Given the description of an element on the screen output the (x, y) to click on. 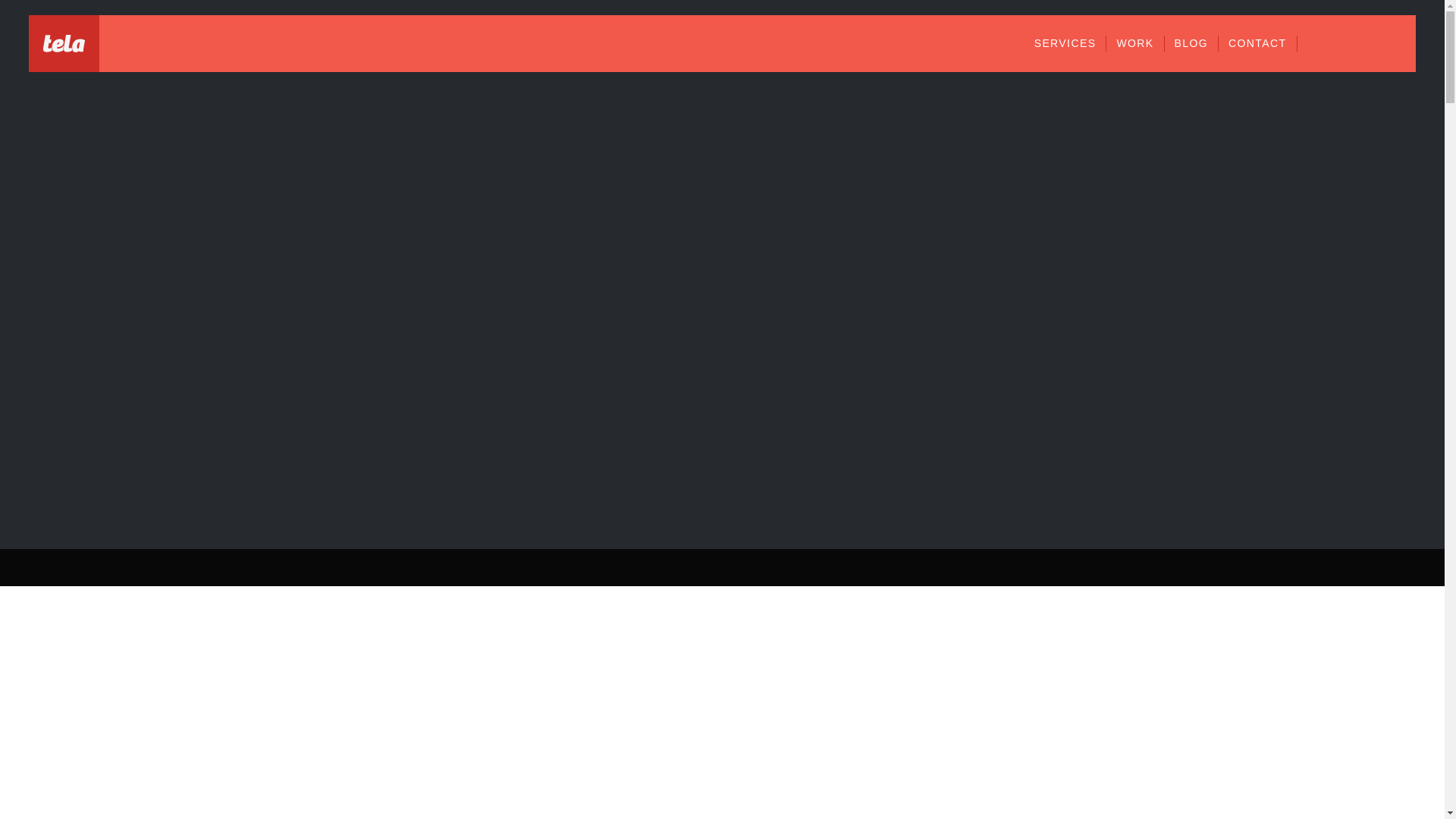
January 2024 (1251, 490)
July 2023 (1240, 654)
October 2023 (1251, 572)
January 2023 (1251, 815)
February 2023 (1254, 790)
November 2023 (1257, 545)
September 2023 (1259, 599)
February 2024 (1254, 463)
Work (1228, 155)
News (1229, 128)
May 2023 (1241, 708)
March 2023 (1246, 763)
June 2023 (1242, 681)
Research (1240, 183)
August 2023 (1248, 626)
